Given the description of an element on the screen output the (x, y) to click on. 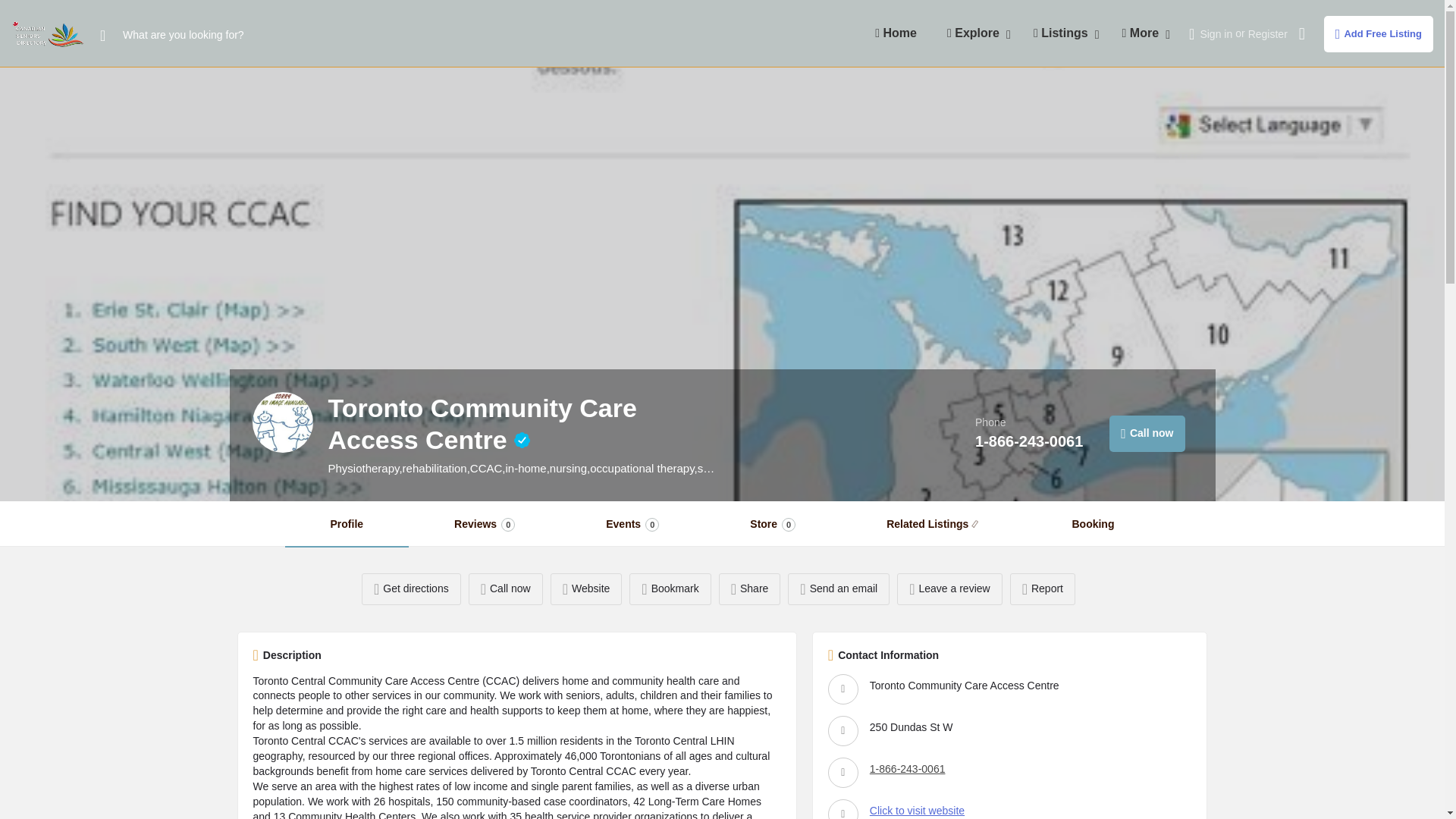
Listings (1061, 33)
Add Free Listing (1377, 33)
Sign in (1215, 33)
Home (895, 33)
More (1141, 33)
Register (1267, 33)
Explore (974, 33)
